Given the description of an element on the screen output the (x, y) to click on. 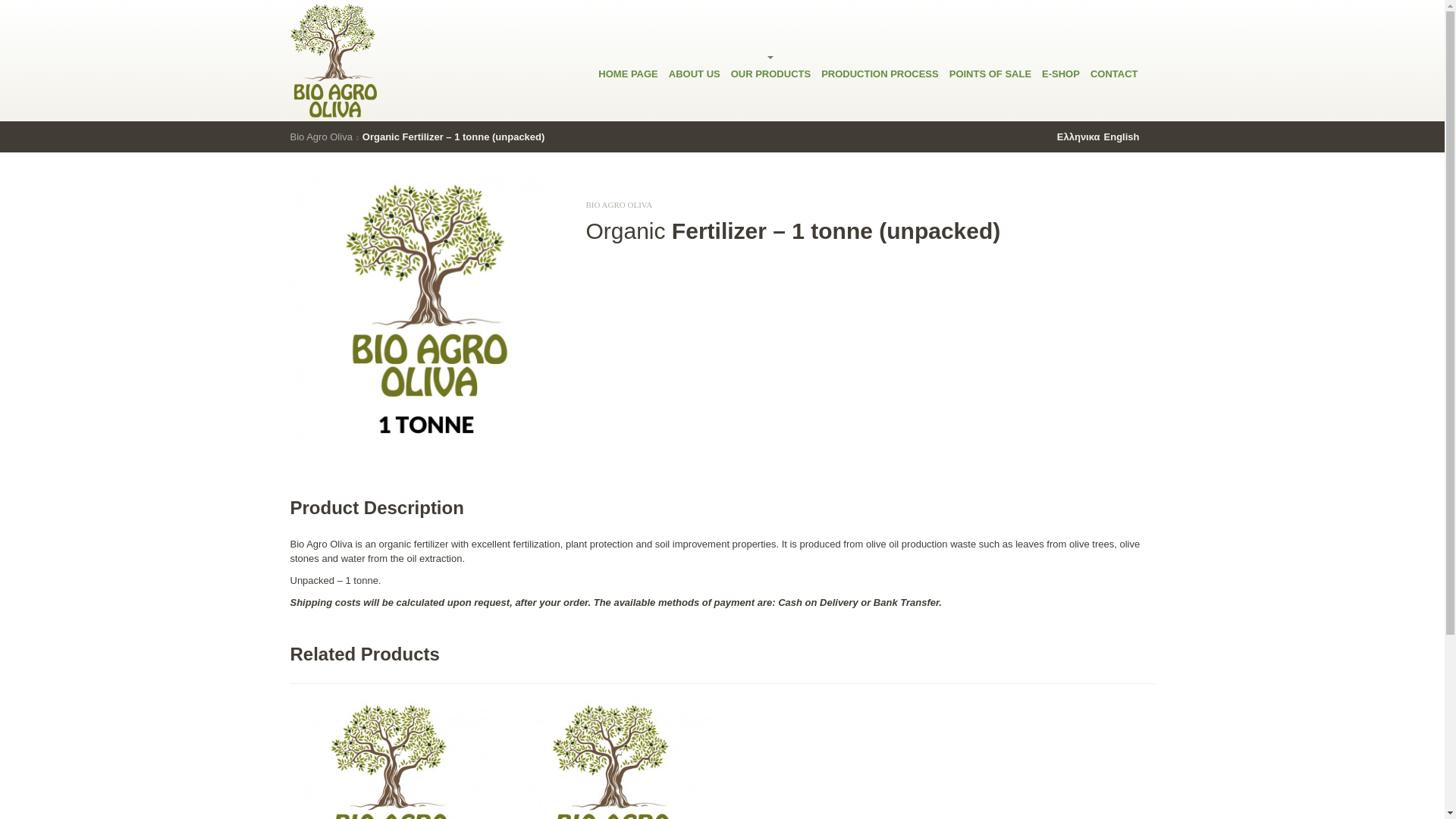
English (1120, 136)
OUR PRODUCTS (770, 38)
HOME PAGE (627, 38)
PRODUCTION PROCESS (879, 38)
BIO AGRO OLIVA (618, 204)
POINTS OF SALE (989, 38)
Bio Agro Oliva (320, 136)
Our Products (770, 38)
Home Page (627, 38)
